Given the description of an element on the screen output the (x, y) to click on. 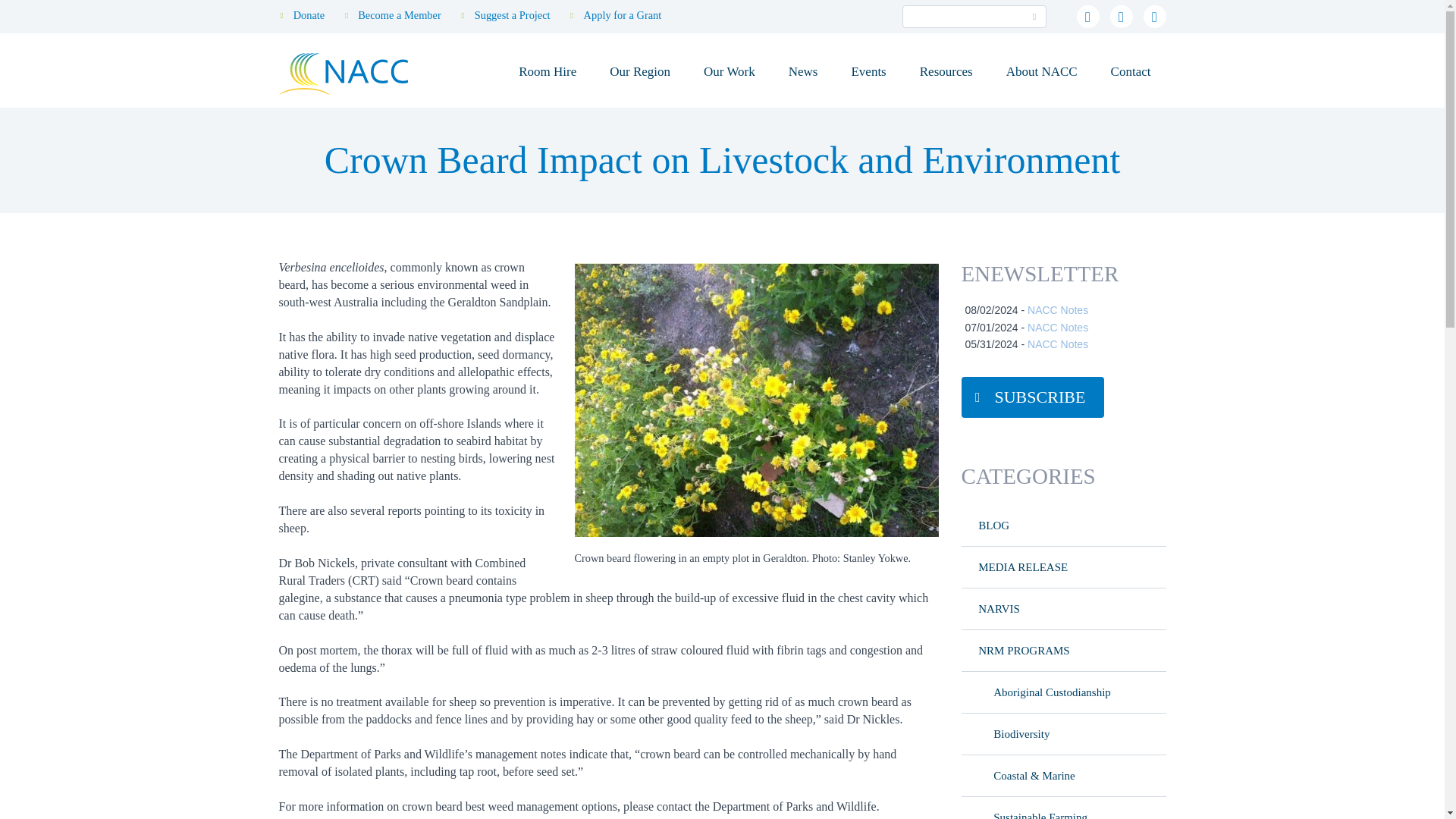
NACC Notes (1057, 327)
Become a Member (399, 15)
Room Hire (547, 71)
Suggest a Project (512, 15)
Resources (946, 71)
facebook (1120, 15)
Events (868, 71)
NACC Notes (1057, 309)
Apply for a Grant (622, 15)
Our Region (639, 71)
